Given the description of an element on the screen output the (x, y) to click on. 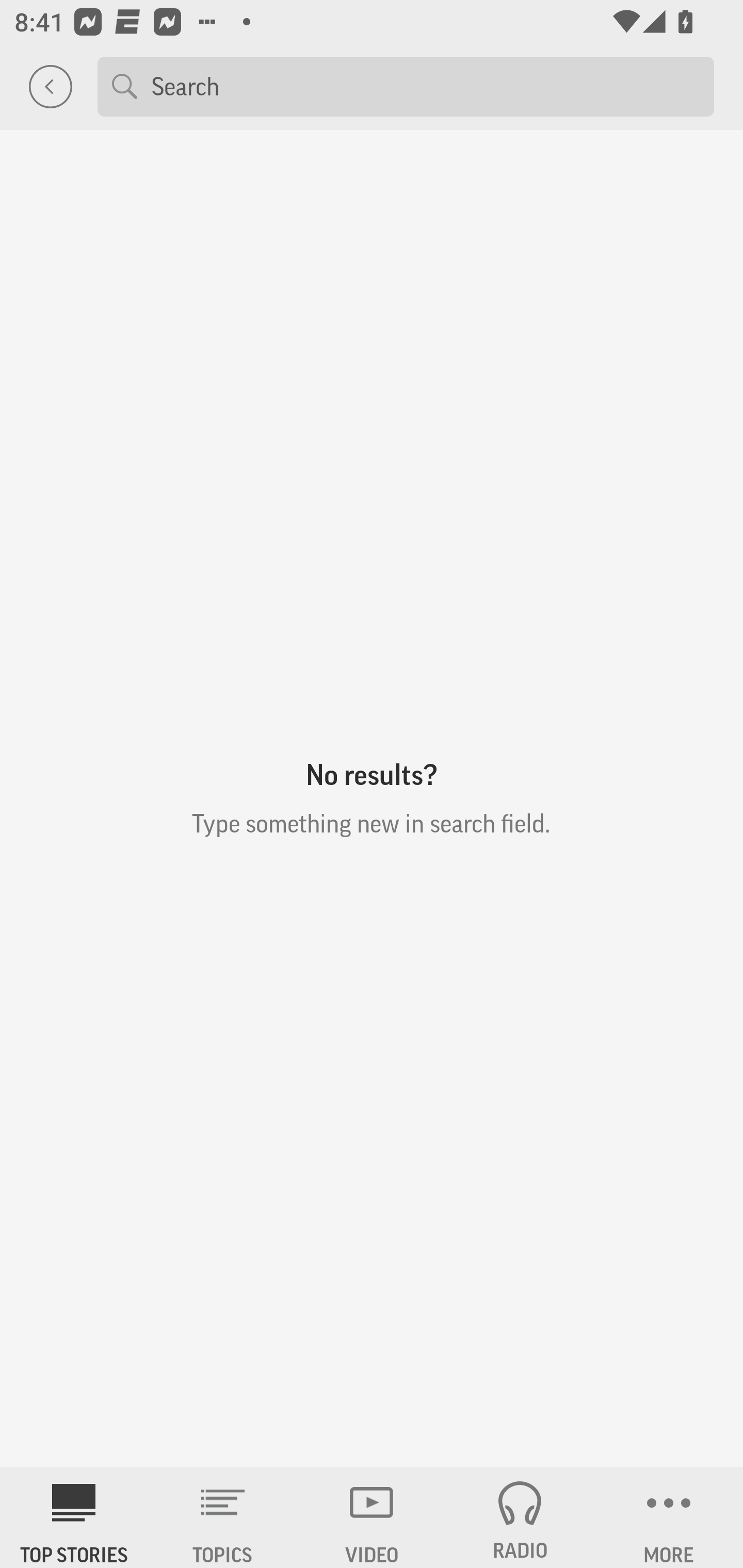
Search (425, 86)
AP News TOP STORIES (74, 1517)
TOPICS (222, 1517)
VIDEO (371, 1517)
RADIO (519, 1517)
MORE (668, 1517)
